Given the description of an element on the screen output the (x, y) to click on. 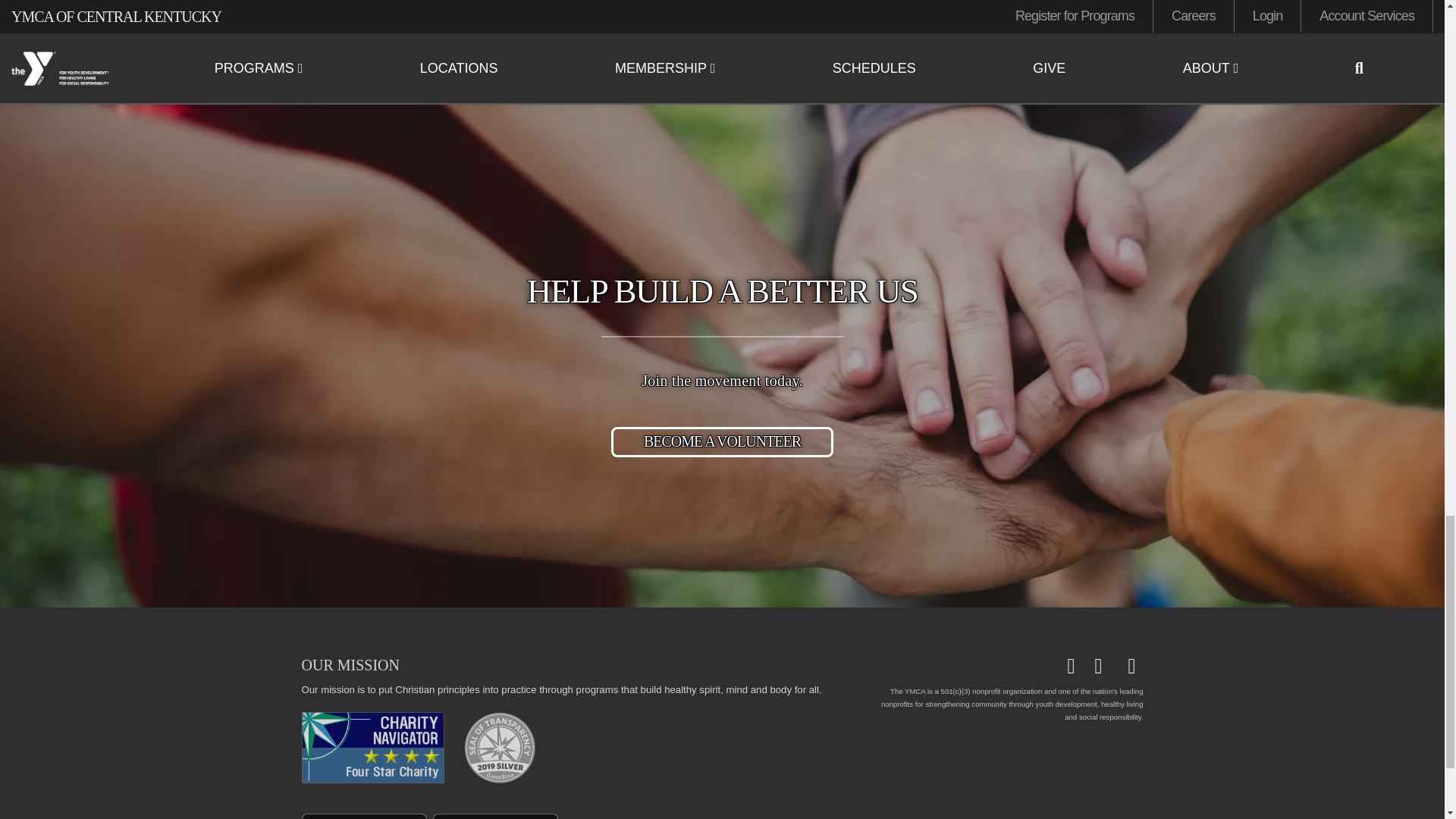
Go to YMCA Facebook (1077, 666)
